Given the description of an element on the screen output the (x, y) to click on. 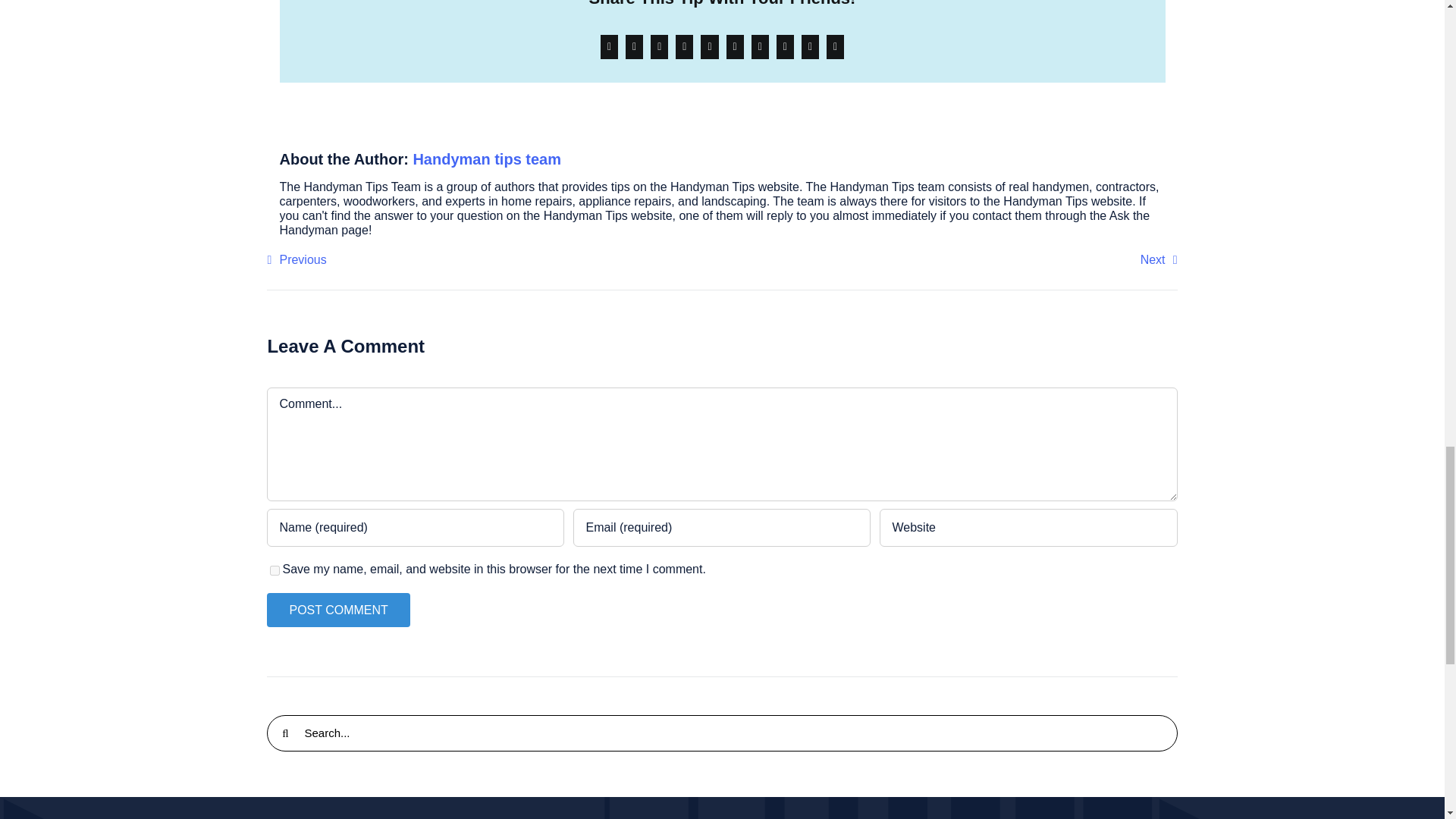
Previous (296, 259)
Handyman tips team (486, 158)
yes (274, 570)
Post Comment (337, 609)
Post Comment (337, 609)
Next (1158, 259)
